Given the description of an element on the screen output the (x, y) to click on. 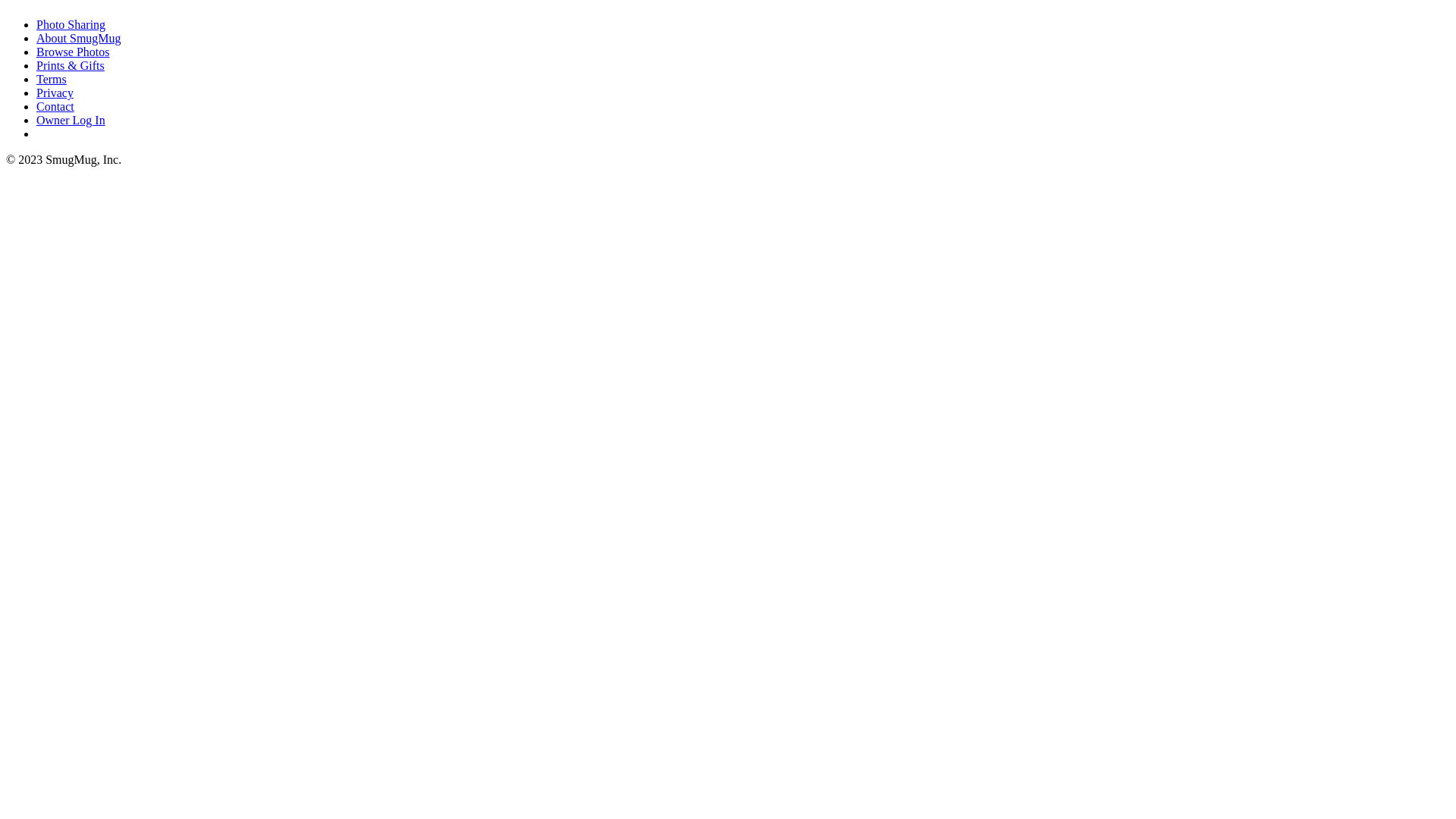
Terms Element type: text (51, 78)
Owner Log In Element type: text (70, 119)
Browse Photos Element type: text (72, 51)
Photo Sharing Element type: text (70, 24)
About SmugMug Element type: text (78, 37)
Contact Element type: text (55, 106)
Prints & Gifts Element type: text (70, 65)
Privacy Element type: text (54, 92)
